Given the description of an element on the screen output the (x, y) to click on. 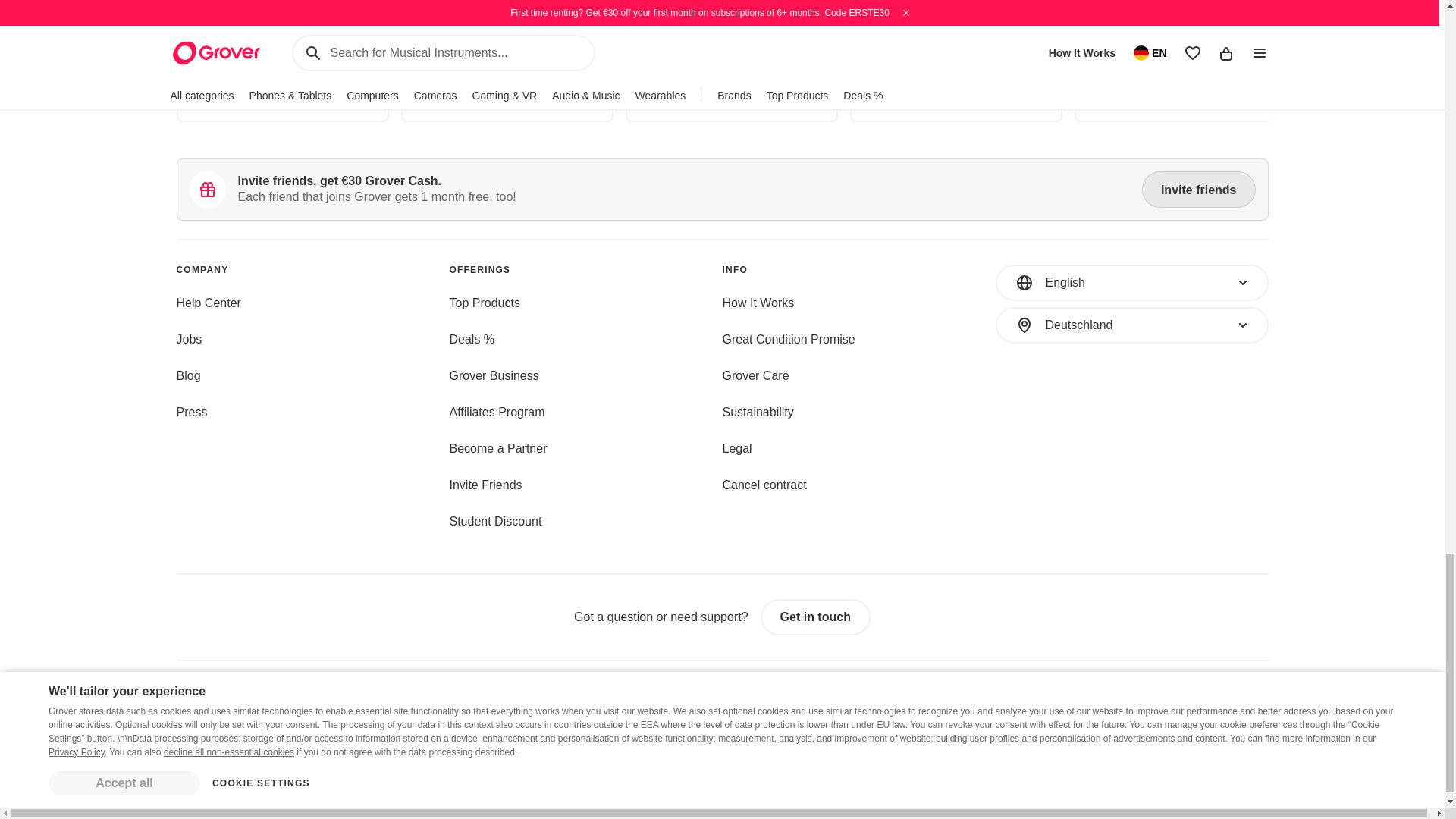
Steinberg UR22C Audio Interface (955, 41)
Roland DJ-202 DJ Controller (1179, 49)
Steinberg UR44C Audio Interface (731, 41)
Steinberg UR22C Recording Pack Audio Interface (505, 41)
